Given the description of an element on the screen output the (x, y) to click on. 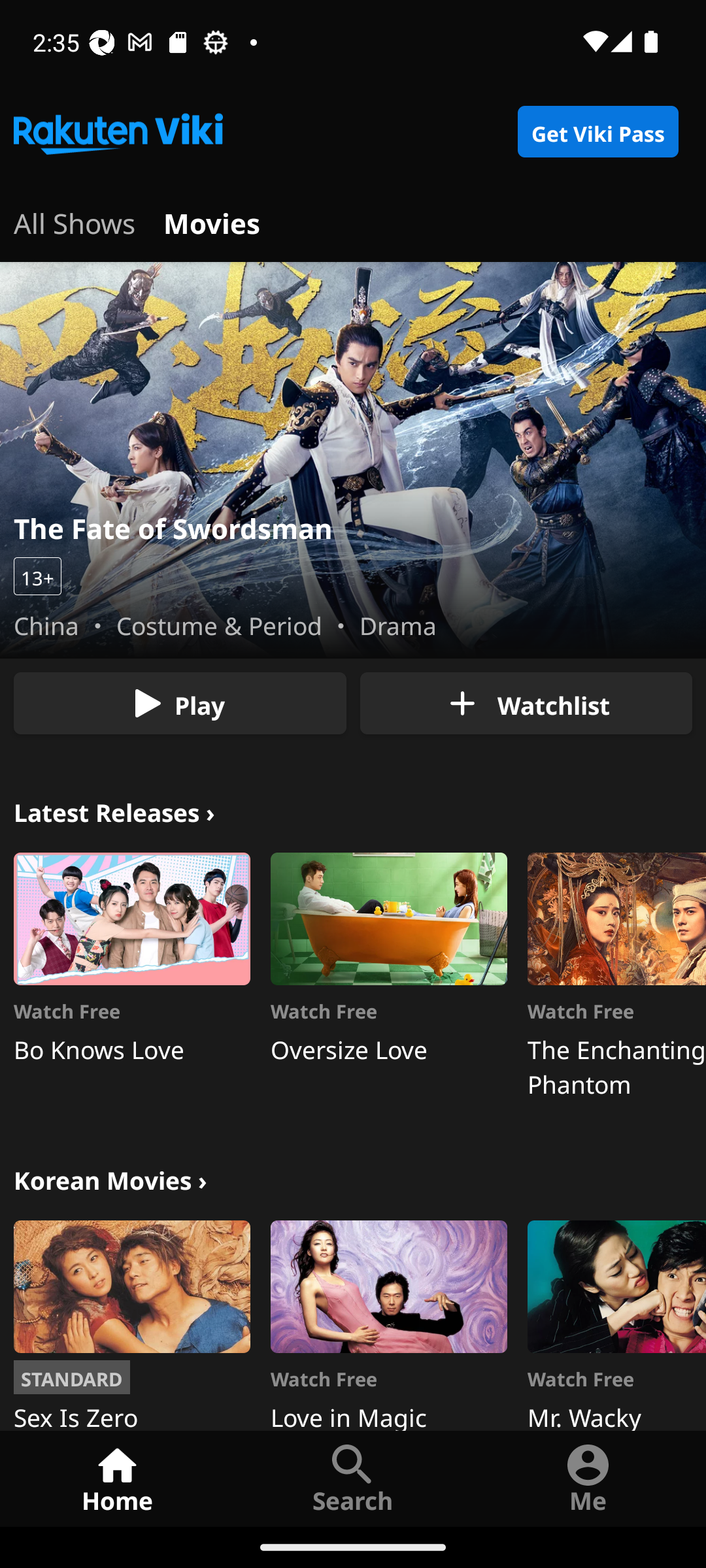
Get Viki Pass (597, 131)
home_tab_all_shows All Shows (74, 220)
Play home_billboard_play_button (179, 702)
Watchlist home_billboard_add_to_watchlist_button (526, 702)
Latest Releases › latest_releases_movies (114, 809)
Korean Movies › korean_movies_trending (110, 1178)
Search (352, 1478)
Me (588, 1478)
